Given the description of an element on the screen output the (x, y) to click on. 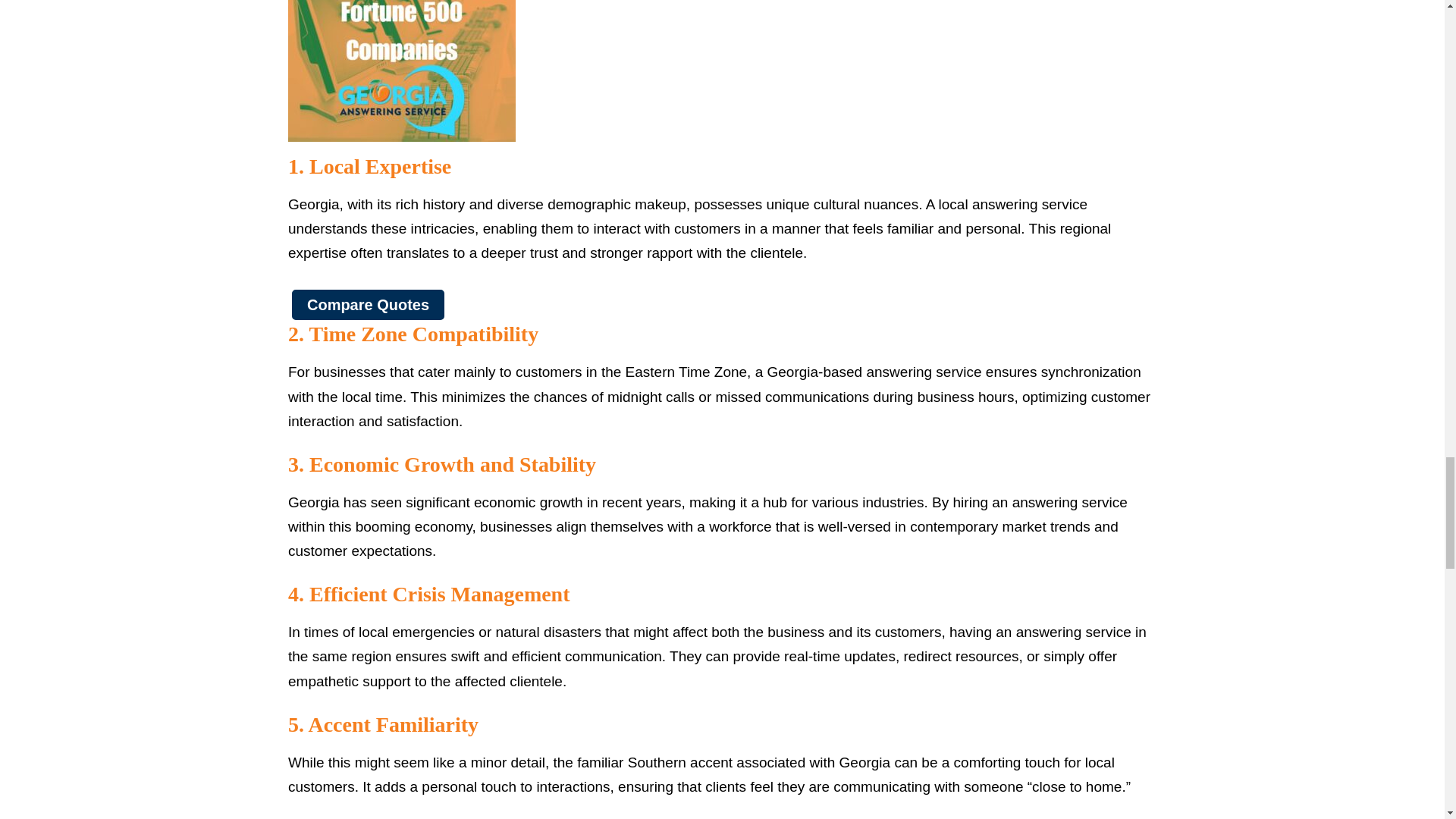
Solutions For All Businesses (401, 70)
